Given the description of an element on the screen output the (x, y) to click on. 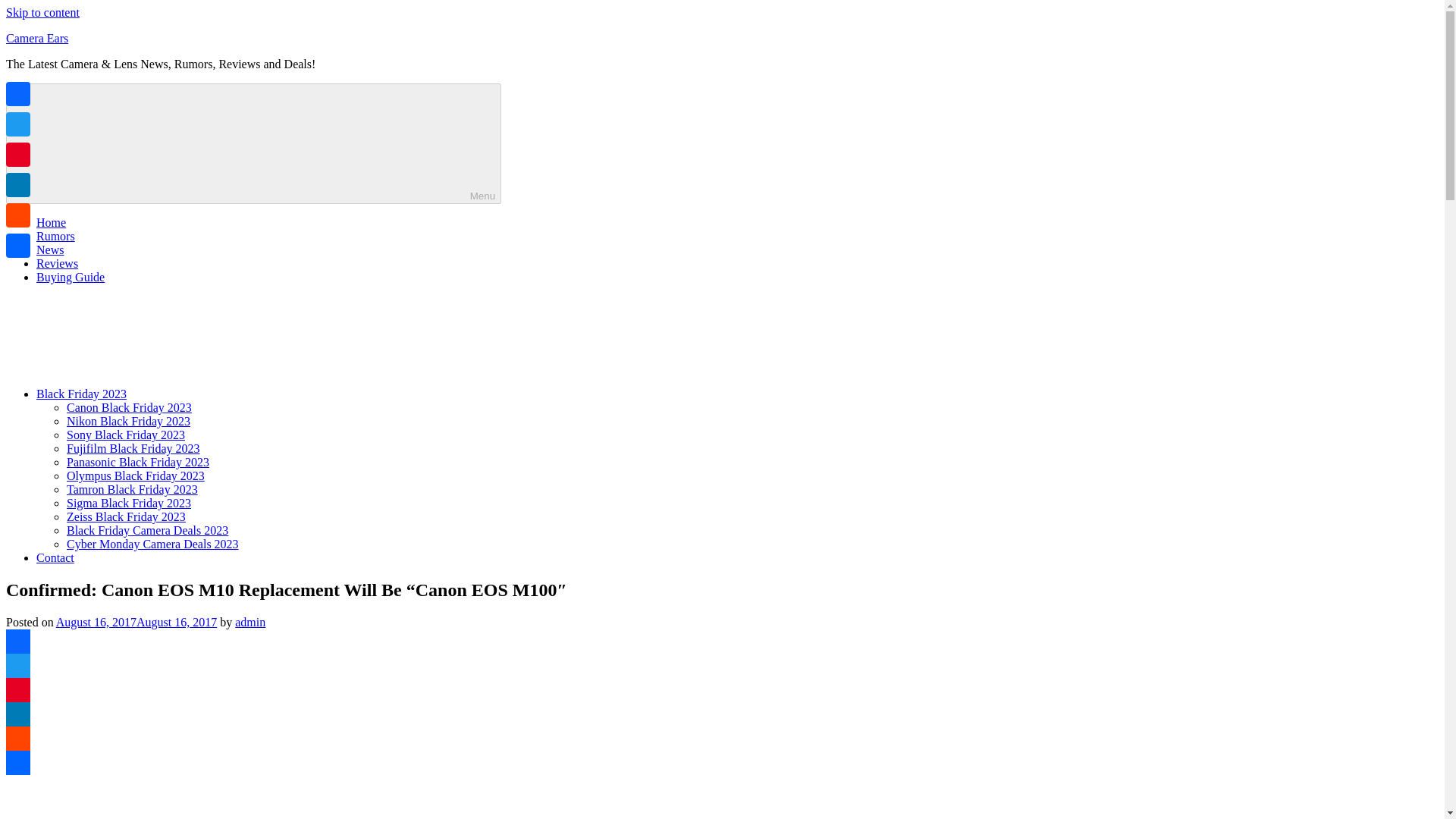
Camera Ears (36, 38)
Reviews (57, 263)
Black Friday Camera Deals 2023 (147, 530)
Rumors (55, 236)
Sigma Black Friday 2023 (128, 502)
Skip to content (42, 11)
News (50, 249)
Canon Black Friday 2023 (129, 407)
Contact (55, 557)
View all posts by admin (249, 621)
Tamron Black Friday 2023 (132, 489)
Panasonic Black Friday 2023 (137, 461)
Nikon Black Friday 2023 (128, 420)
Black Friday 2023 (194, 393)
Buying Guide (70, 277)
